Given the description of an element on the screen output the (x, y) to click on. 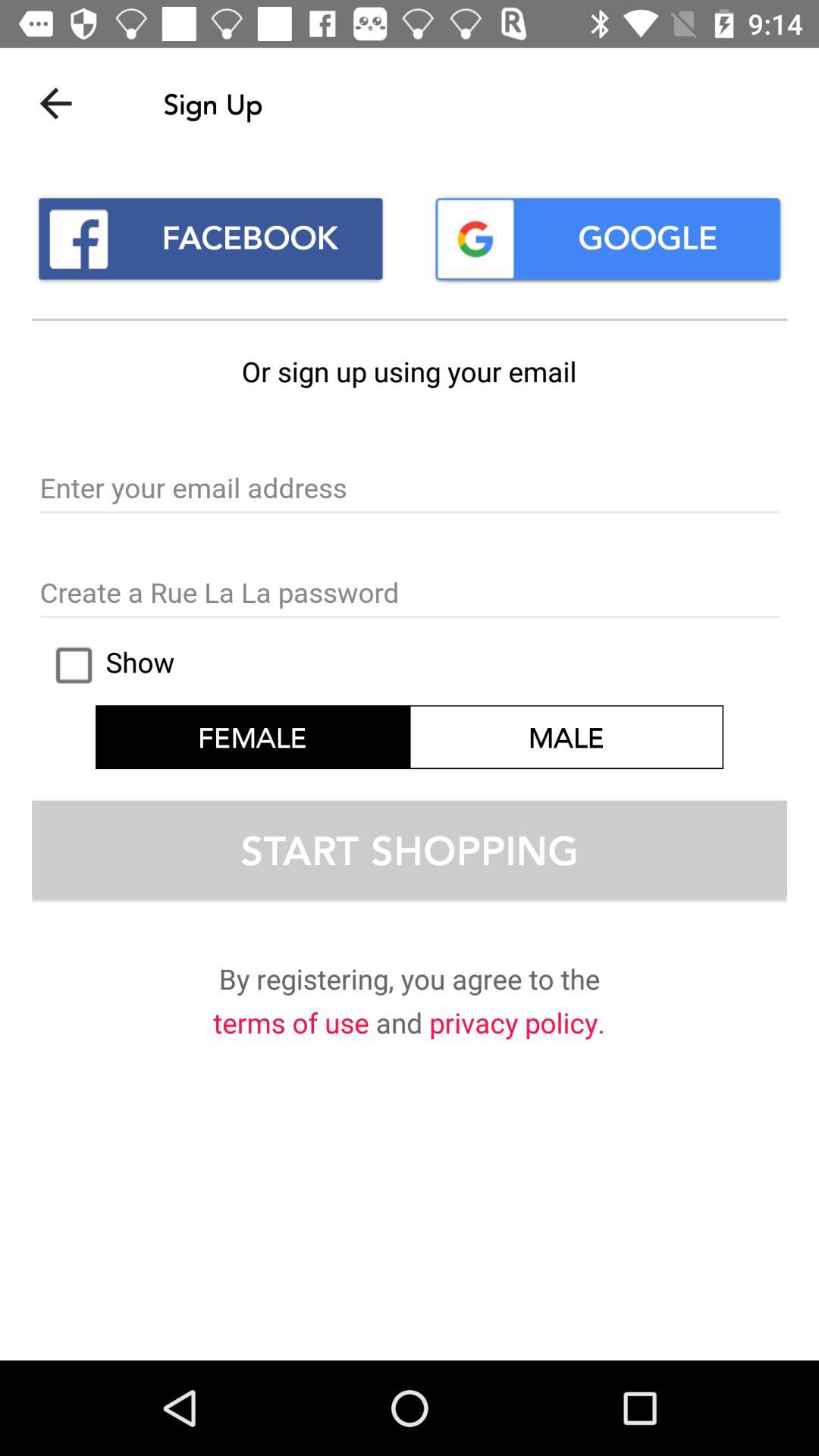
turn on item below the by registering you icon (513, 1025)
